Given the description of an element on the screen output the (x, y) to click on. 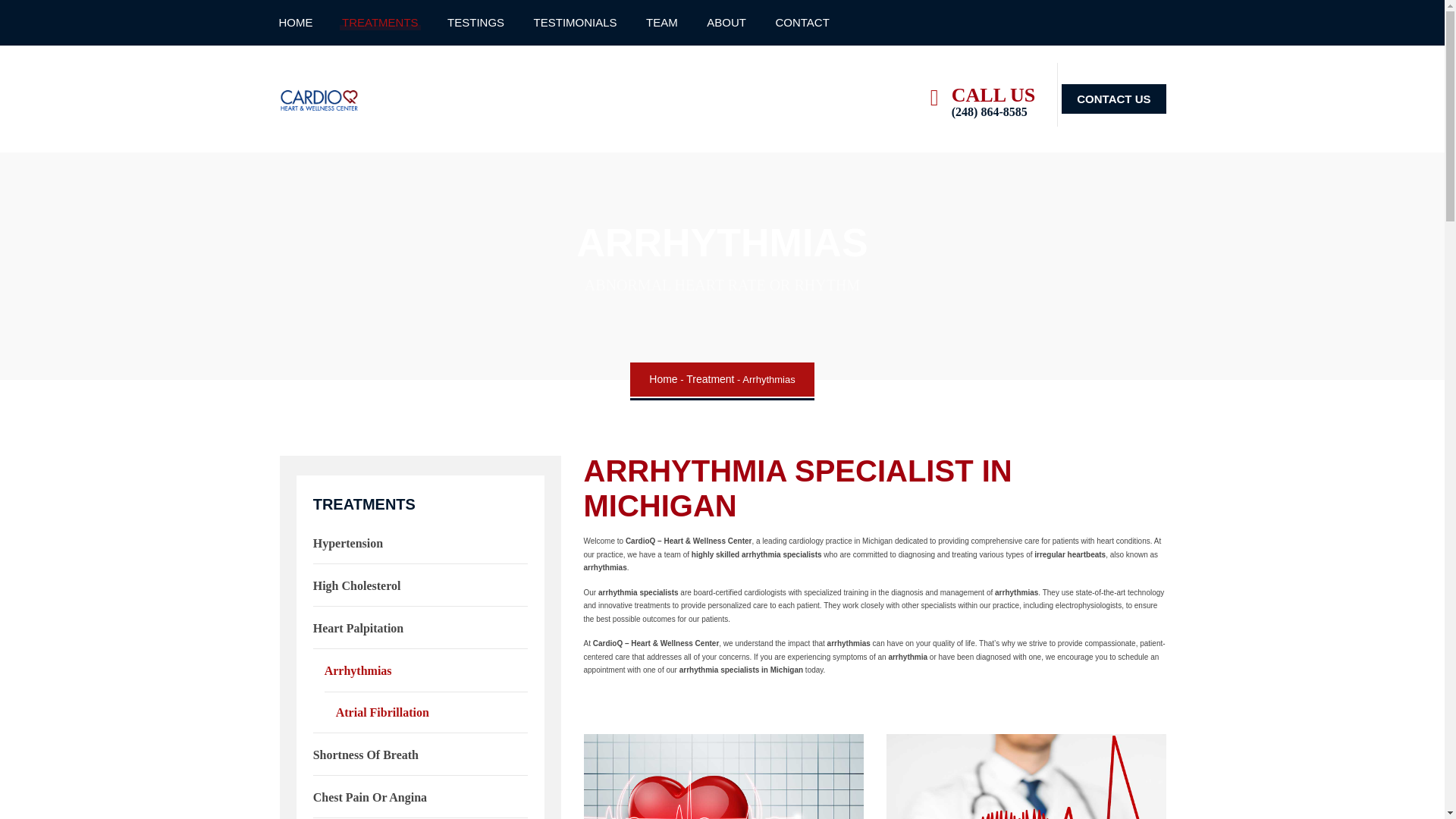
CONTACT (802, 22)
TESTINGS (475, 22)
ABOUT (726, 22)
Treatment (709, 378)
Go to the Treatment Service Category archives. (709, 378)
Home (663, 378)
Hypertension (347, 543)
High Cholesterol (357, 585)
TEAM (661, 22)
TREATMENTS (380, 22)
CONTACT US (1113, 98)
TESTIMONIALS (574, 22)
HOME (302, 22)
